Given the description of an element on the screen output the (x, y) to click on. 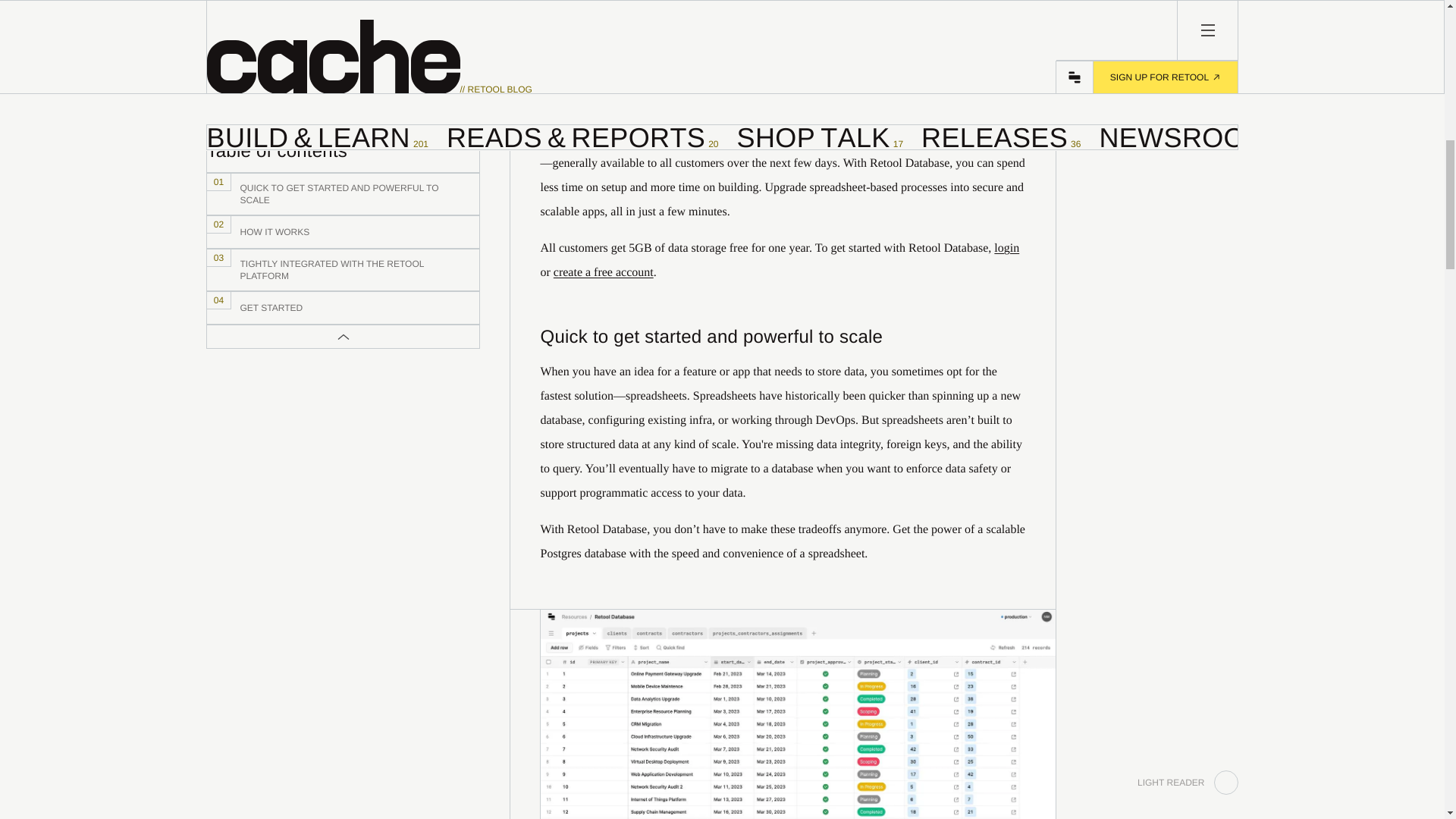
login (1006, 247)
COPY LINK (342, 236)
create a free account (1146, 33)
Table of contents (603, 272)
Retool Database (342, 118)
Toggle Table of Contents Closed (342, 198)
Quick to get started and powerful to scale (342, 160)
Quick to get started and powerful to scale (650, 138)
